Given the description of an element on the screen output the (x, y) to click on. 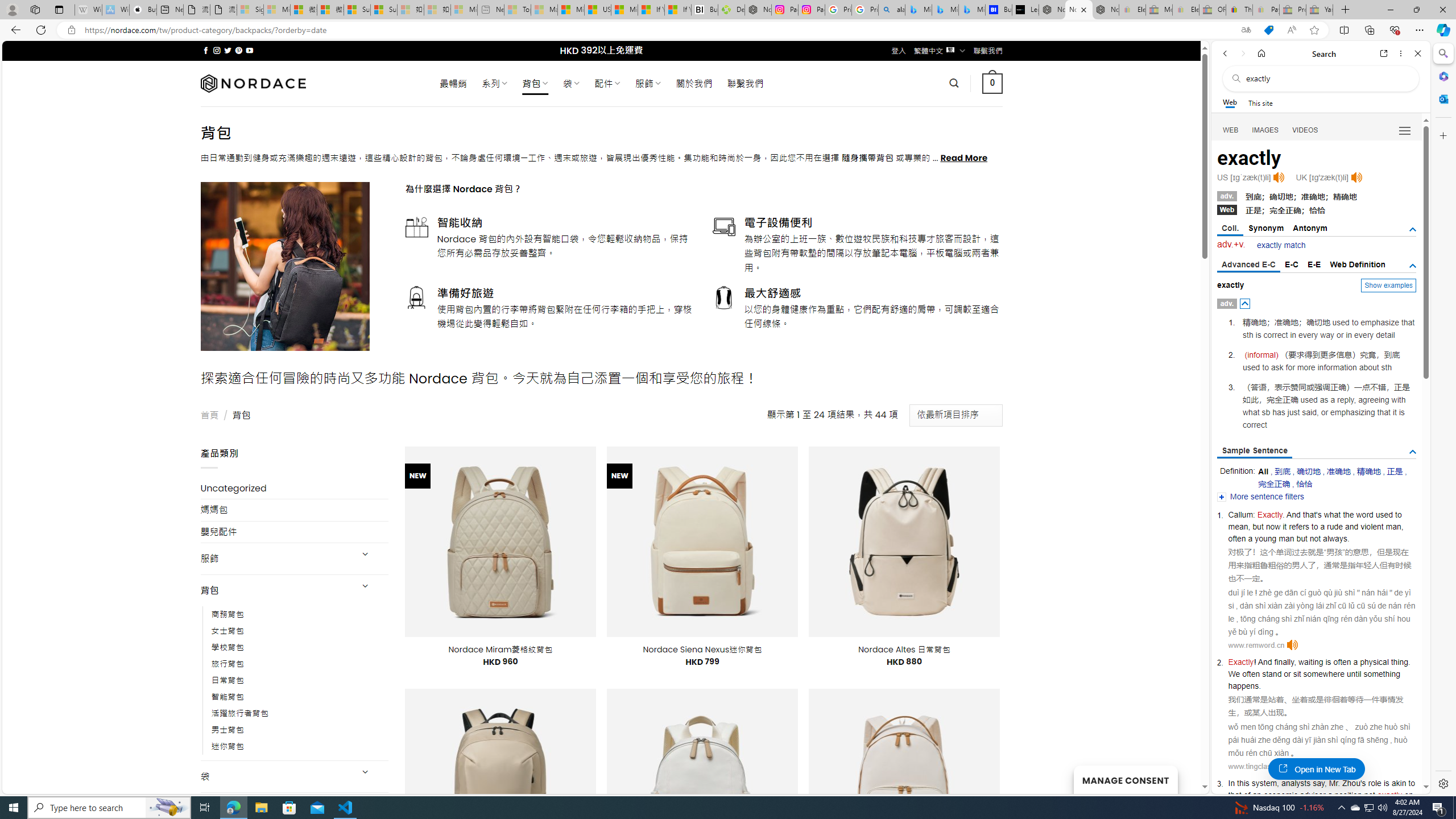
Microsoft account | Account Checkup - Sleeping (463, 9)
Antonym (1310, 227)
Follow on Pinterest (237, 50)
 0  (992, 83)
